Given the description of an element on the screen output the (x, y) to click on. 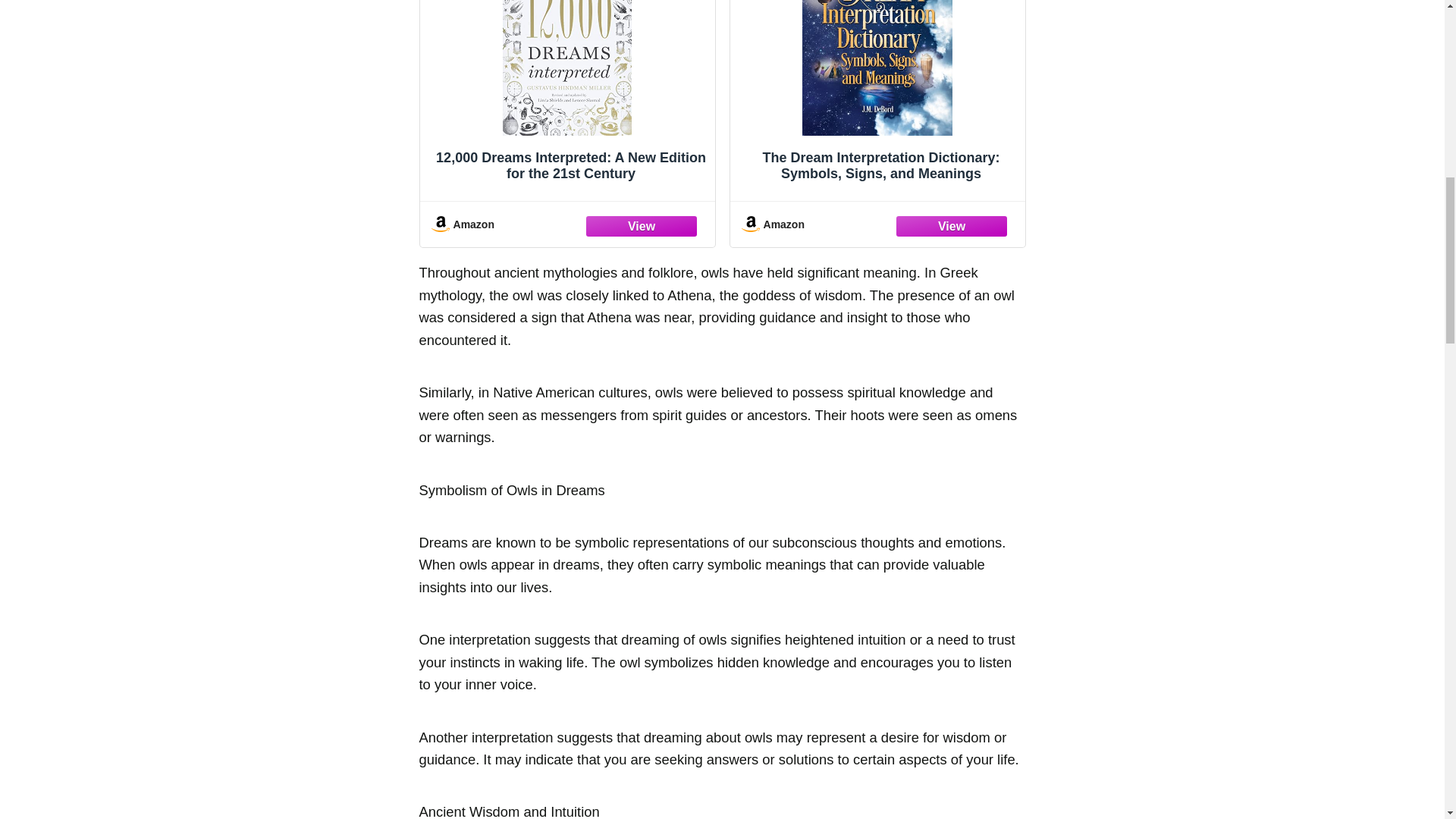
Amazon (877, 224)
Amazon (566, 224)
